Given the description of an element on the screen output the (x, y) to click on. 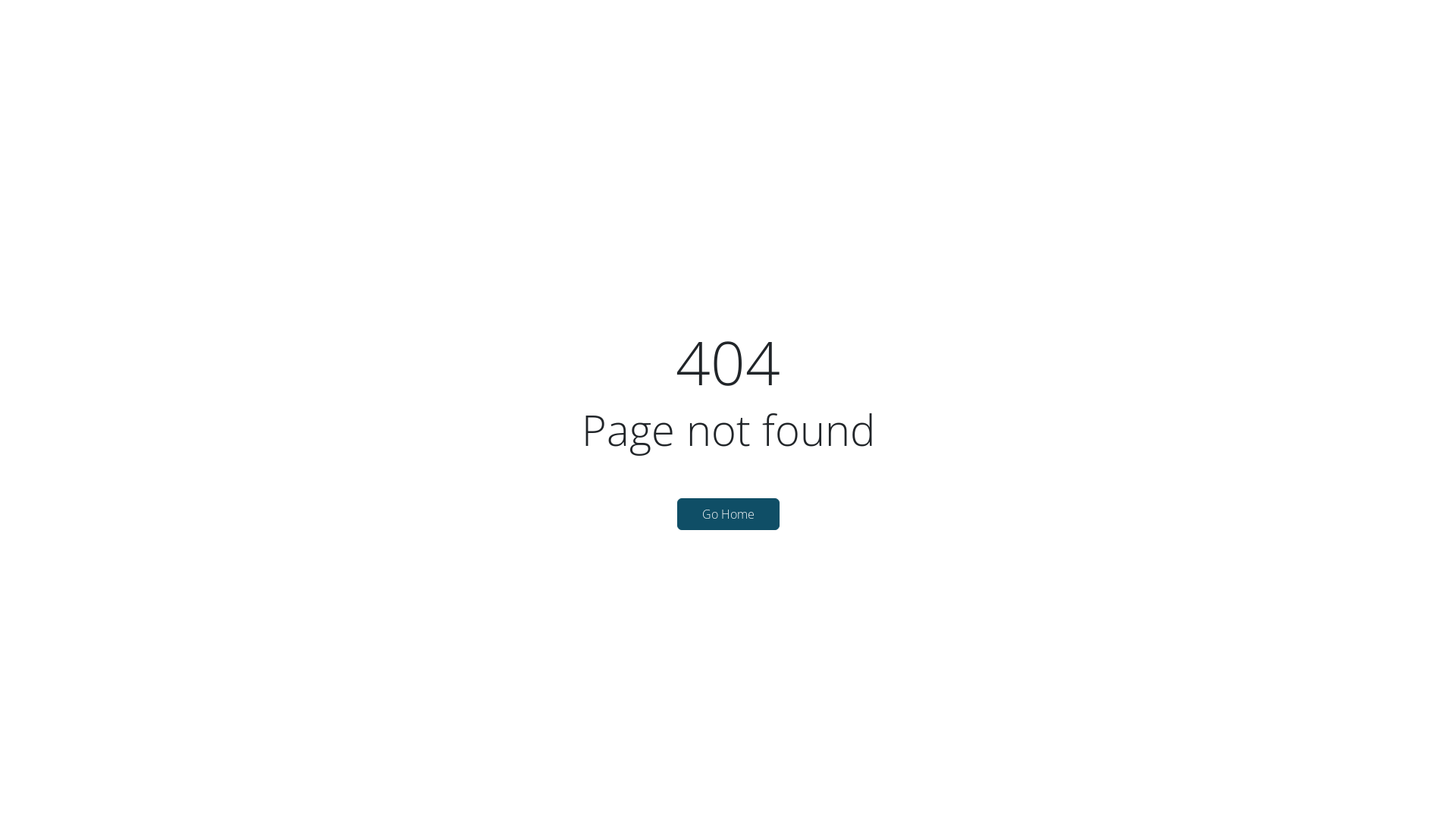
Go Home Element type: text (727, 514)
